Given the description of an element on the screen output the (x, y) to click on. 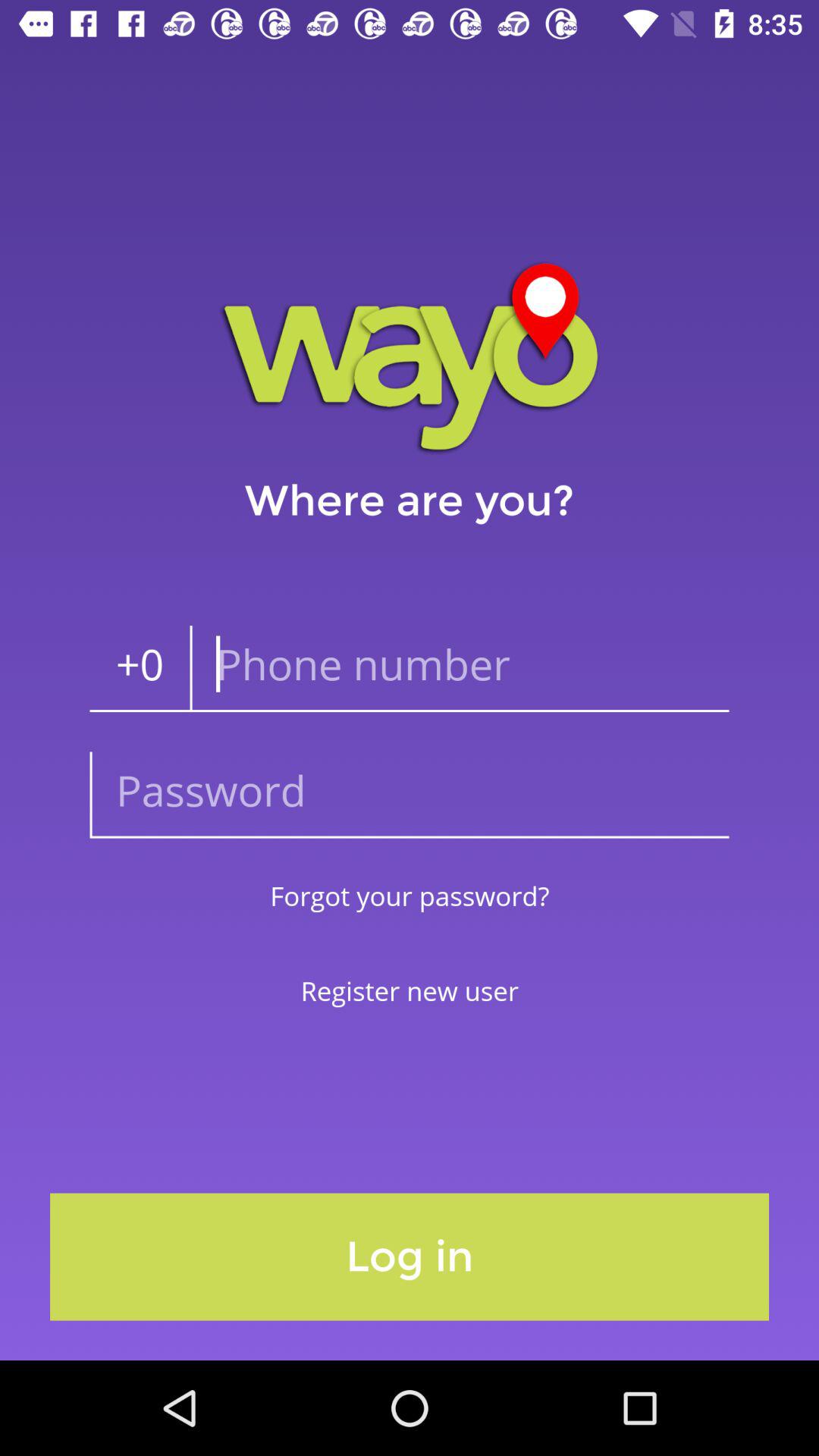
tap the icon above register new user item (409, 895)
